Given the description of an element on the screen output the (x, y) to click on. 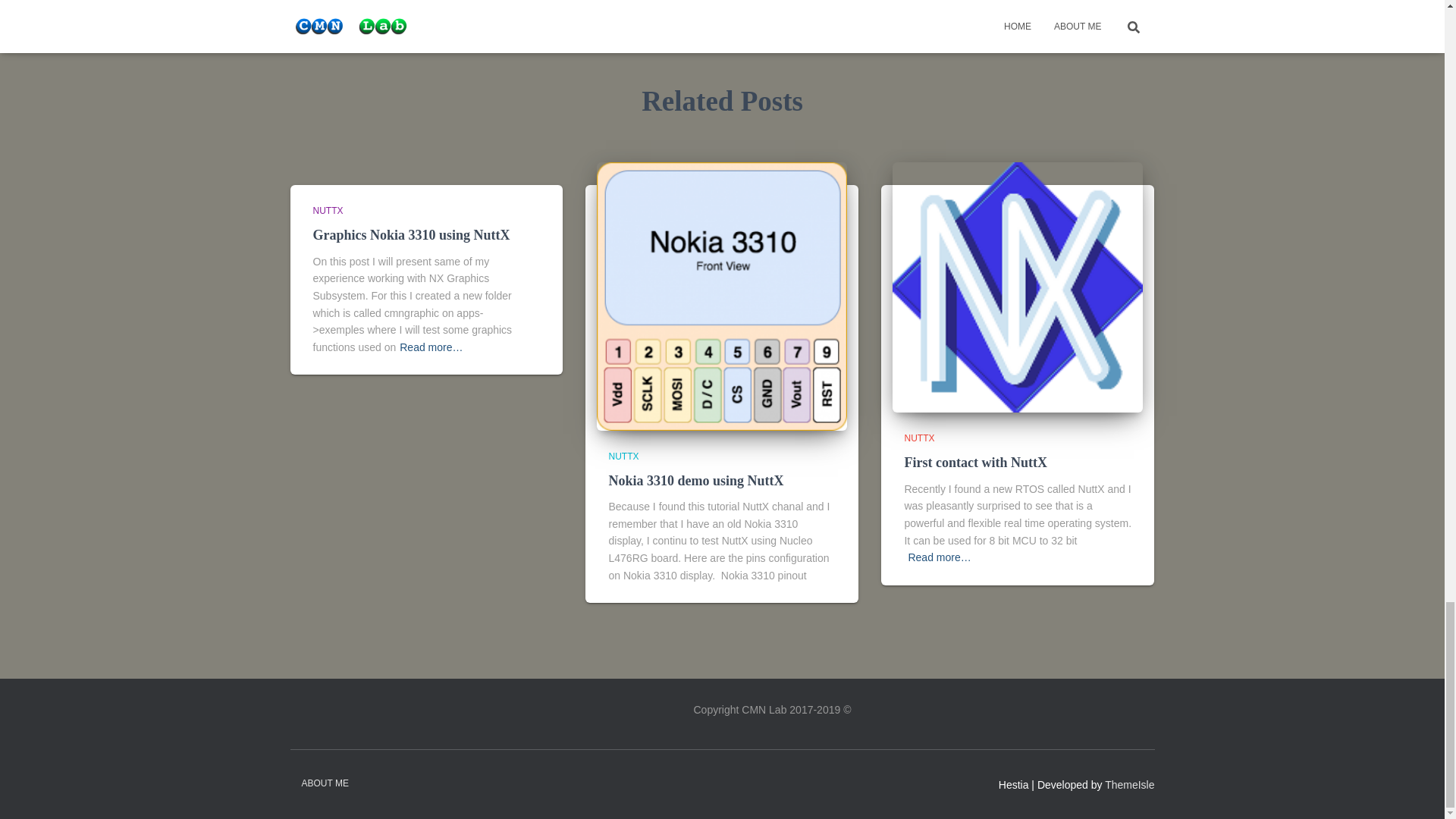
View all posts in NuttX (327, 210)
View all posts in NuttX (623, 456)
NUTTX (623, 456)
First contact with NuttX (1017, 286)
Nokia 3310 demo using NuttX (695, 480)
Graphics Nokia 3310 using NuttX (411, 234)
Nokia 3310 demo using NuttX (721, 295)
Nokia 3310 demo using NuttX (695, 480)
Graphics Nokia 3310 using NuttX (411, 234)
View all posts in NuttX (919, 438)
